Given the description of an element on the screen output the (x, y) to click on. 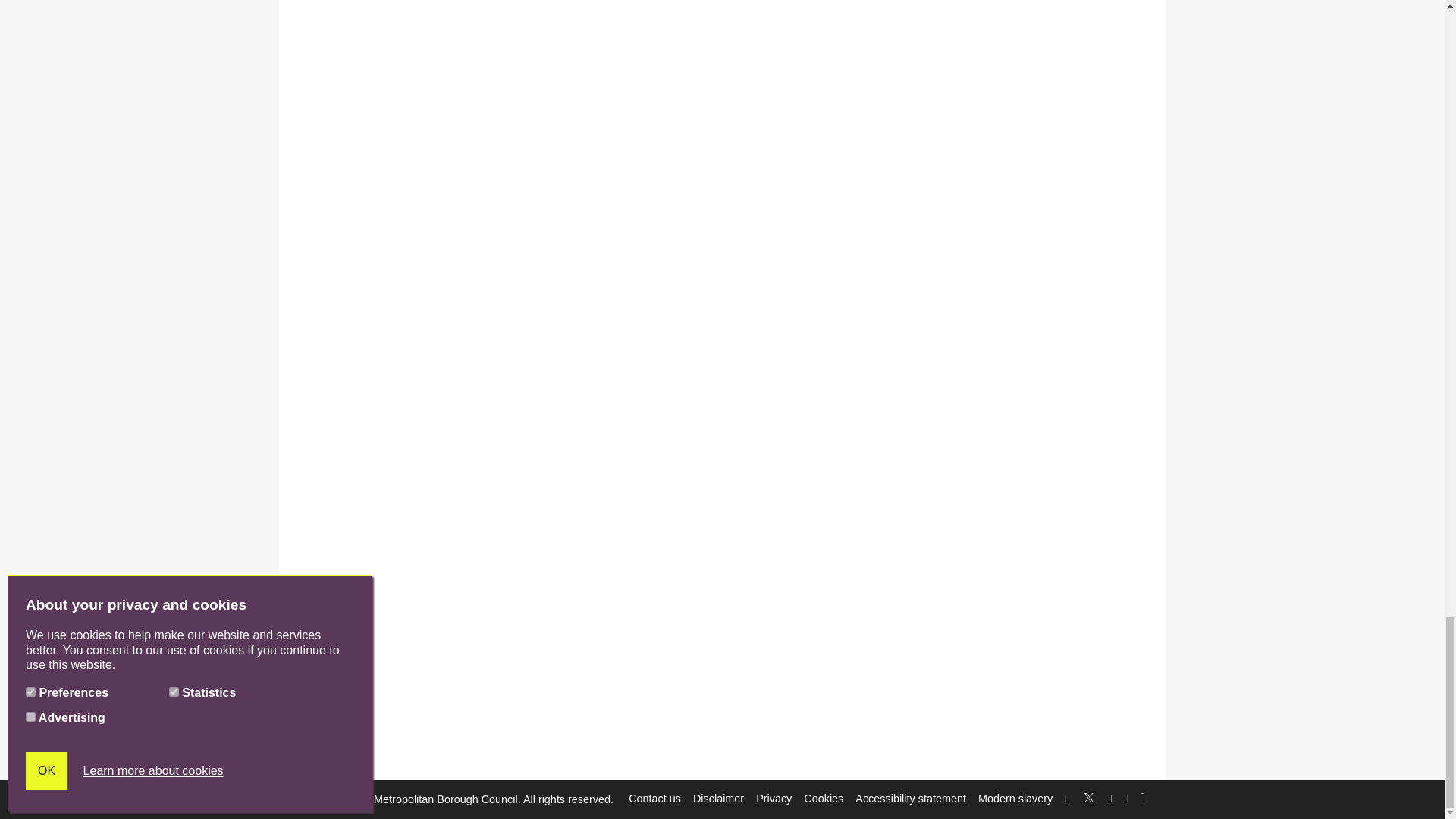
Follow us on X (1088, 794)
